Given the description of an element on the screen output the (x, y) to click on. 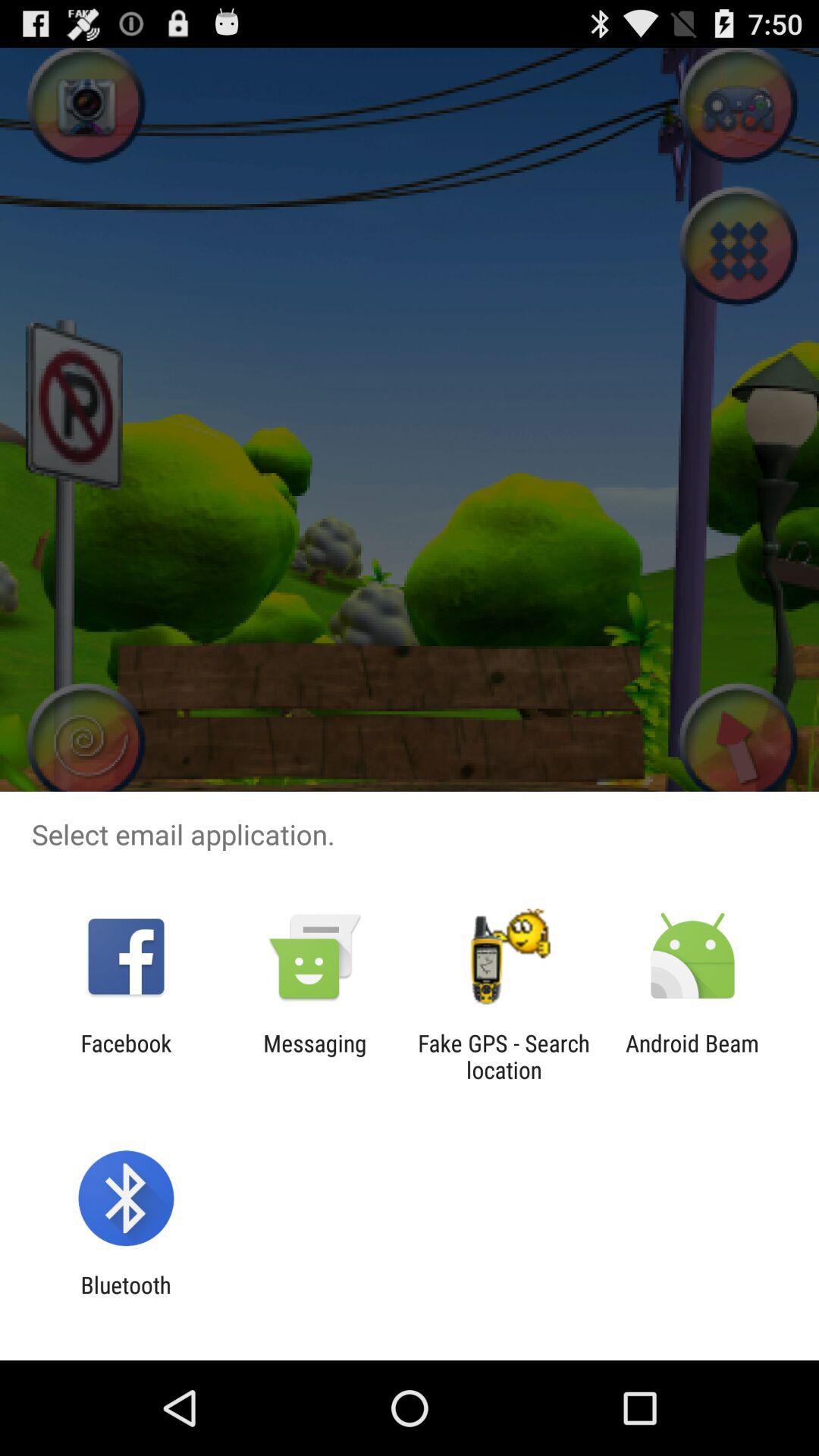
press item to the right of fake gps search icon (692, 1056)
